Given the description of an element on the screen output the (x, y) to click on. 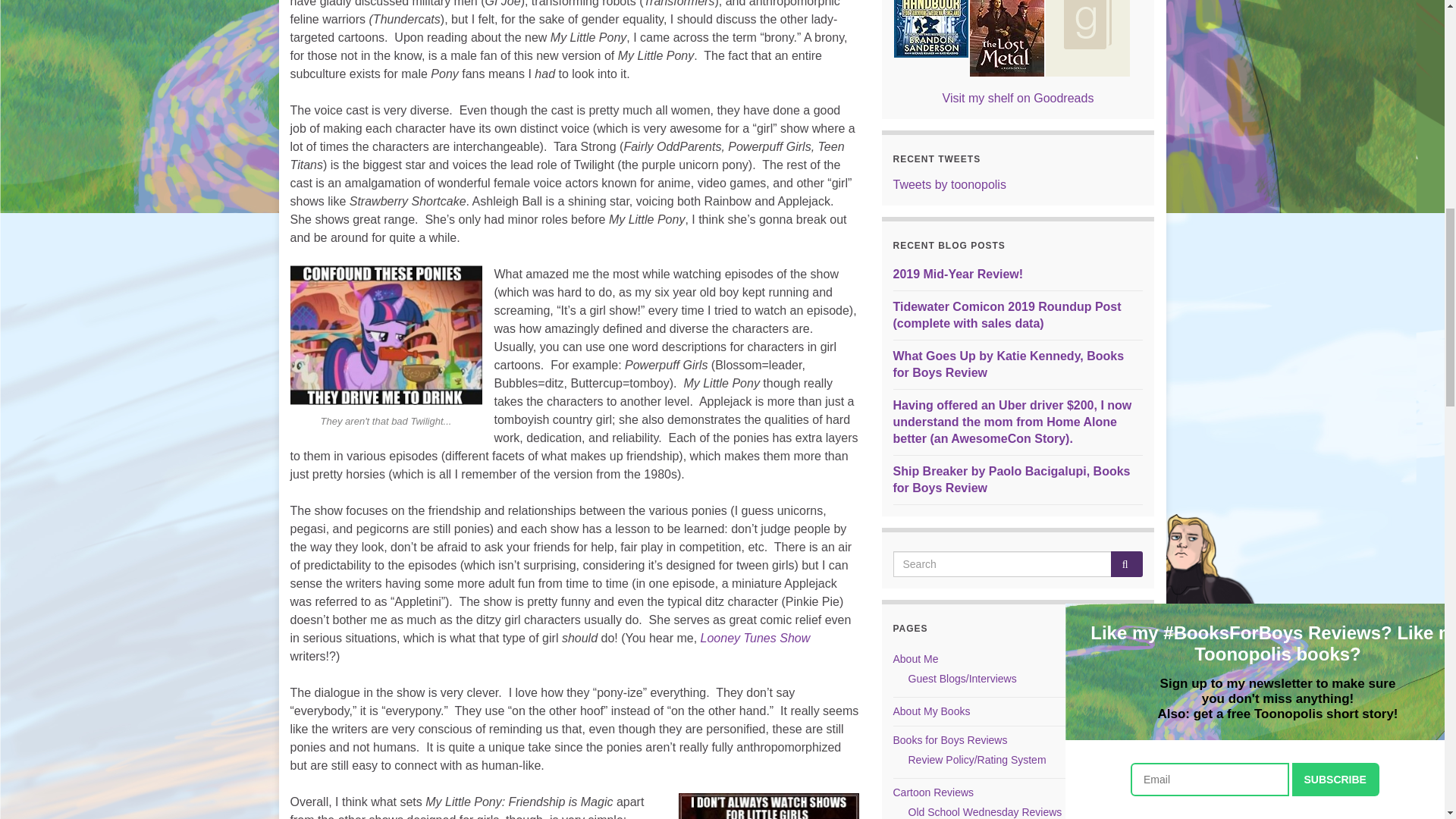
Looney Tunes Show (755, 637)
